Given the description of an element on the screen output the (x, y) to click on. 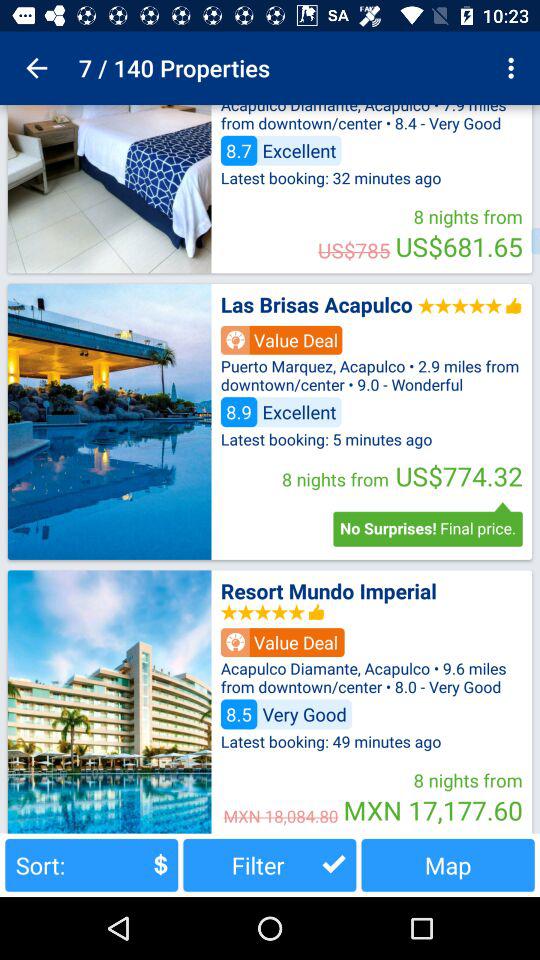
zoom in the hotel (109, 701)
